Given the description of an element on the screen output the (x, y) to click on. 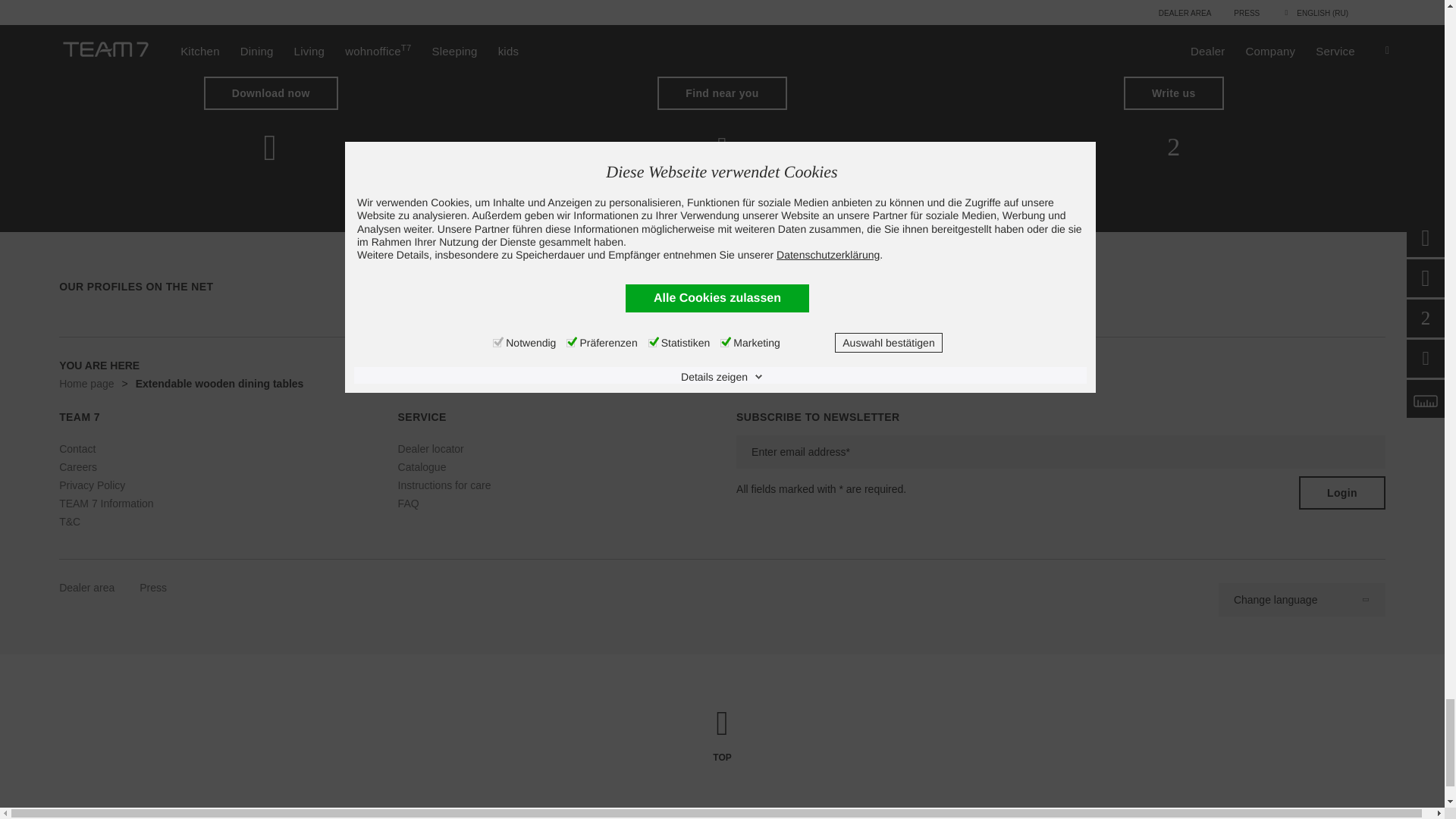
Login (1342, 492)
